Given the description of an element on the screen output the (x, y) to click on. 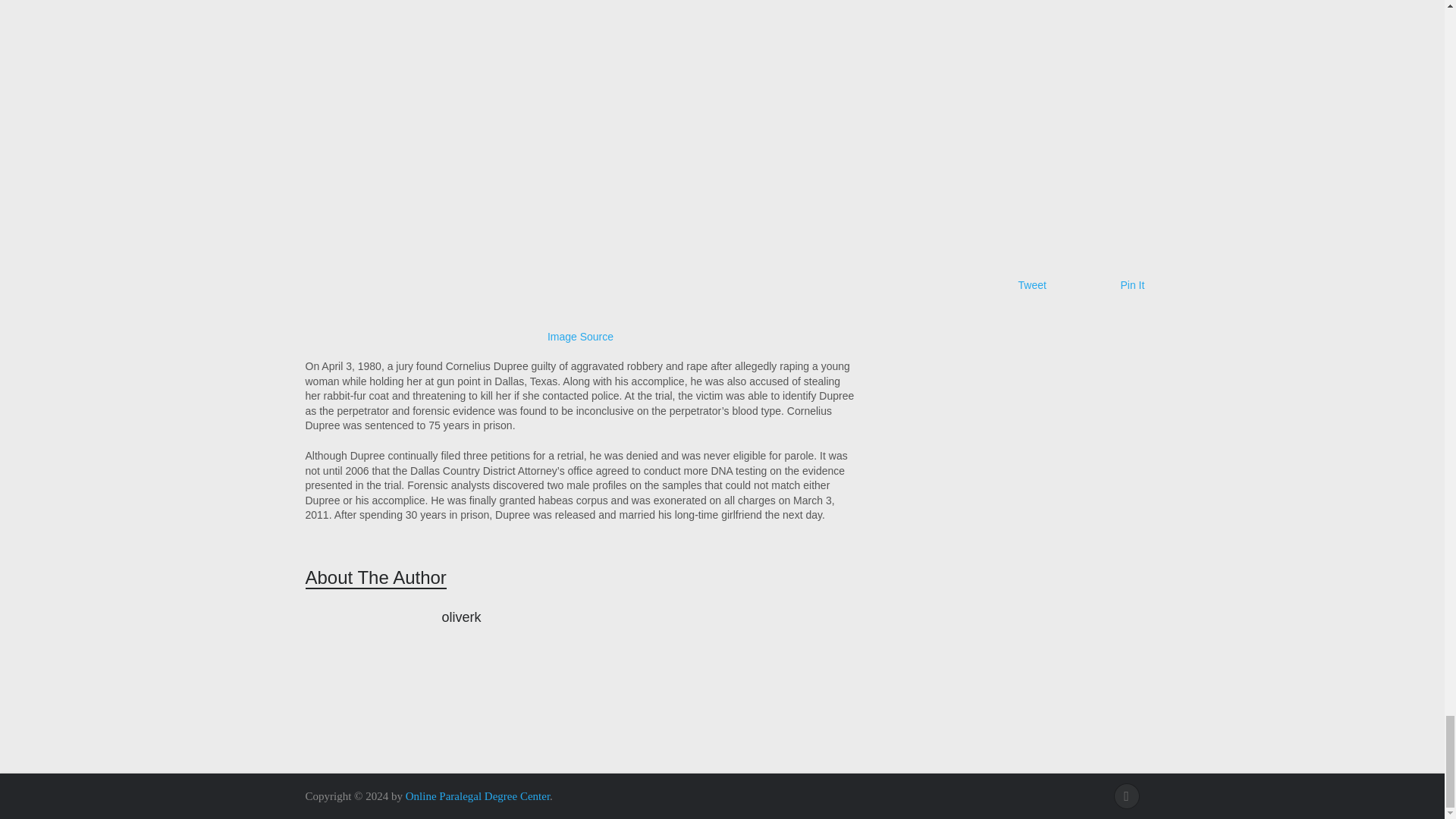
oliverk (460, 616)
Image Source (579, 336)
